Given the description of an element on the screen output the (x, y) to click on. 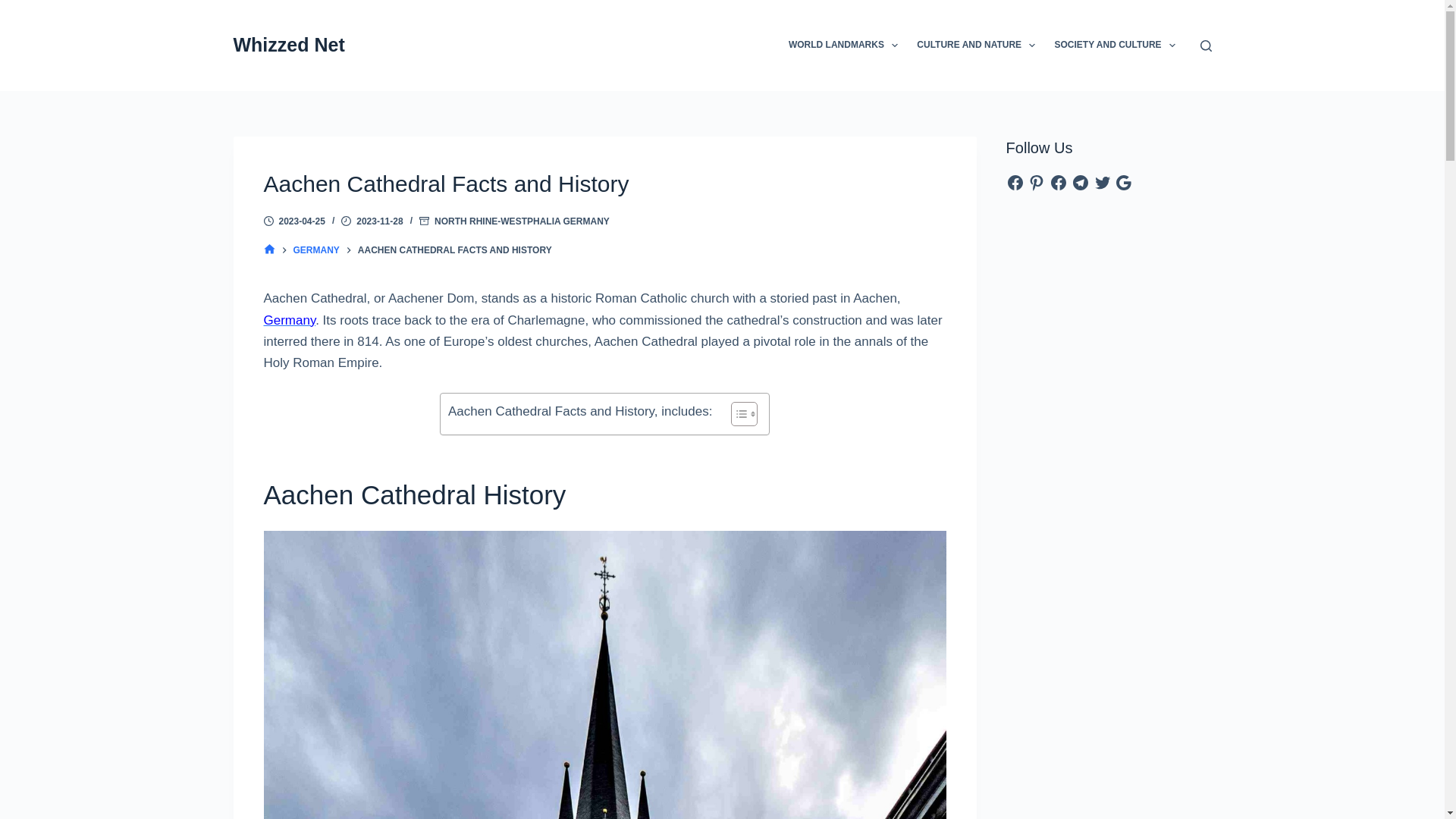
Skip to content (15, 7)
German Landmarks (289, 319)
WORLD LANDMARKS (842, 45)
Aachen Cathedral Facts and History (604, 183)
Whizzed Net (288, 44)
